Given the description of an element on the screen output the (x, y) to click on. 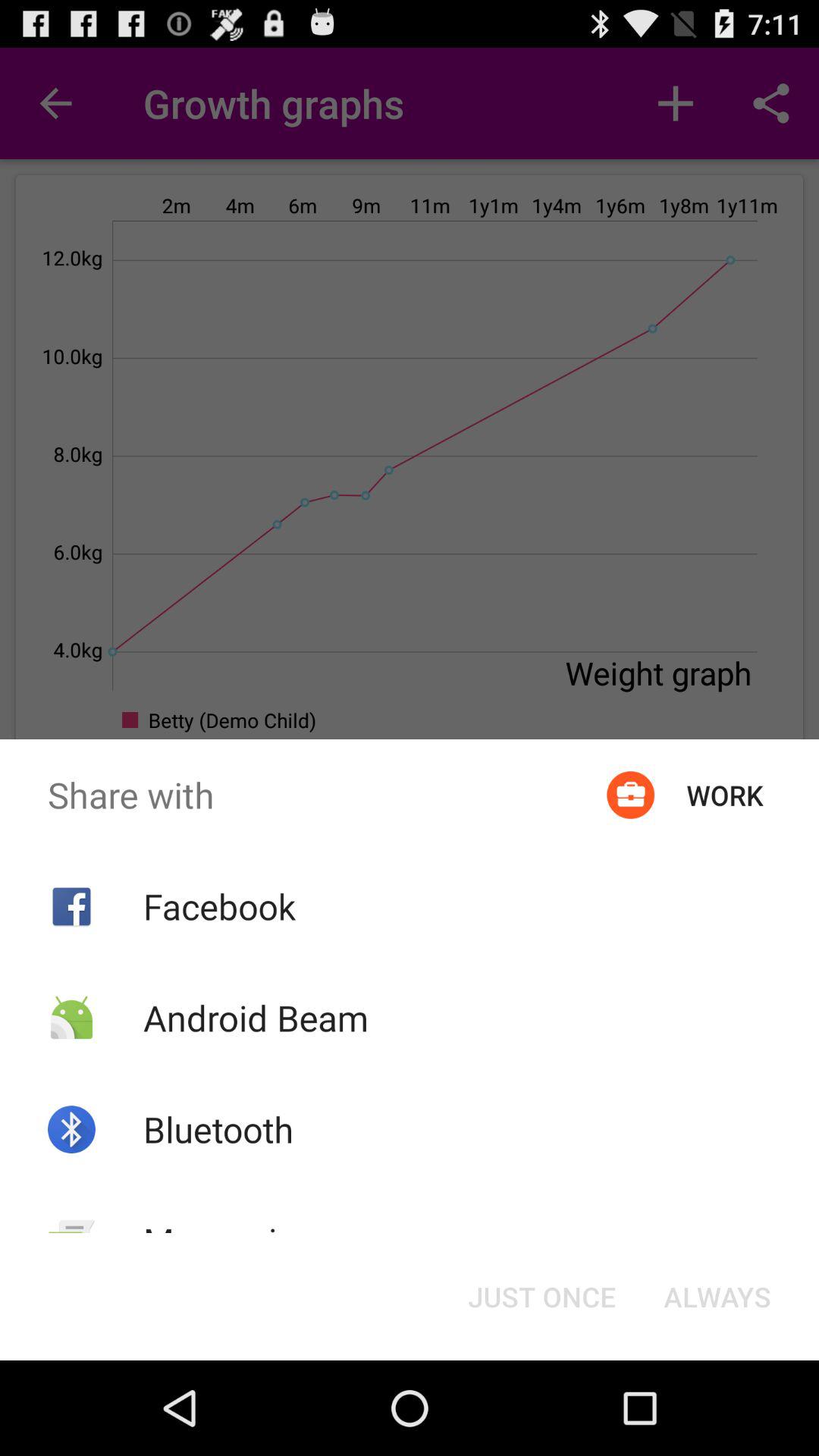
click the always icon (717, 1296)
